Given the description of an element on the screen output the (x, y) to click on. 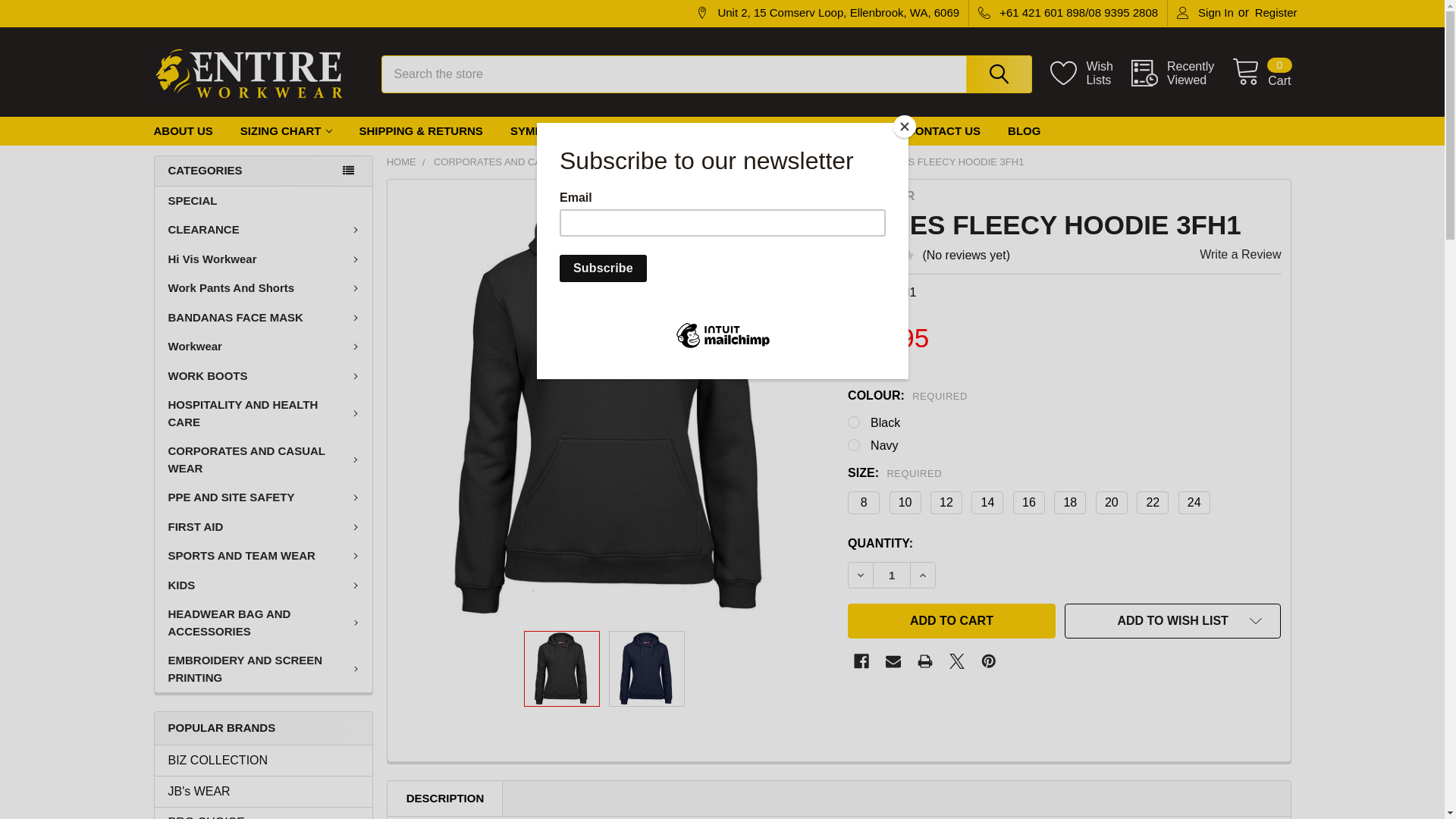
Sign In Element type: text (1204, 13)
Entire Workwear Element type: hover (247, 73)
ADD TO WISH LIST Element type: text (1172, 620)
JB'S WEAR Element type: text (880, 195)
HEADWEAR BAG AND ACCESSORIES Element type: text (263, 622)
CORPORATES AND CASUAL WEAR Element type: text (263, 459)
SPECIAL Element type: text (263, 201)
Print Element type: text (924, 660)
LADIES JUMPERS AND HOODIES Element type: text (784, 161)
Search Element type: text (994, 73)
WORK BOOTS Element type: text (263, 375)
AFTER PAY Element type: text (848, 131)
Hi Vis Workwear Element type: text (263, 258)
JB's WEAR Element type: text (263, 791)
BANDANAS FACE MASK Element type: text (263, 317)
ZIP PAY Element type: text (768, 131)
CATEGORIES Element type: text (262, 170)
Wish
Lists Element type: text (1090, 73)
PRIVACY POLICY Element type: text (672, 131)
DECREASE QUANTITY OF LADIES FLEECY HOODIE 3FH1 Element type: text (860, 574)
EMBROIDERY AND SCREEN PRINTING Element type: text (263, 669)
CLEARANCE Element type: text (263, 229)
INCREASE QUANTITY OF LADIES FLEECY HOODIE 3FH1 Element type: text (922, 574)
PPE AND SITE SAFETY Element type: text (263, 497)
+61 421 601 898/08 9395 2808 Element type: text (1068, 13)
Work Pants And Shorts Element type: text (263, 288)
X Element type: text (956, 660)
CORPORATES AND CASUAL WEAR Element type: text (516, 161)
BLOG Element type: text (1024, 131)
CASUAL WEAR Element type: text (651, 161)
Write a Review Element type: text (1239, 253)
FIRST AID Element type: text (263, 527)
BIZ COLLECTION Element type: text (263, 760)
Recently
Viewed Element type: text (1181, 73)
DESCRIPTION Element type: text (445, 798)
Email Element type: text (892, 660)
Workwear Element type: text (263, 346)
SYMBOL GUIDE Element type: text (553, 131)
SIZING CHART Element type: text (285, 131)
LADIES FLEECY HOODIE 3FH1 Element type: text (951, 161)
LADIES FLEECY HOODIE 3FH1 Element type: hover (561, 668)
Facebook Element type: text (861, 660)
KIDS Element type: text (263, 584)
Add to Cart Element type: text (951, 620)
CONTACT US Element type: text (943, 131)
Pinterest Element type: text (988, 660)
LADIES FLEECY HOODIE 3FH1 Element type: hover (646, 668)
SPORTS AND TEAM WEAR Element type: text (263, 556)
LADIES FLEECY HOODIE 3FH1 Element type: hover (613, 404)
Register Element type: text (1276, 13)
HOSPITALITY AND HEALTH CARE Element type: text (263, 413)
Cart
0 Element type: text (1261, 73)
ABOUT US Element type: text (182, 131)
SHIPPING & RETURNS Element type: text (420, 131)
HOME Element type: text (401, 161)
